Given the description of an element on the screen output the (x, y) to click on. 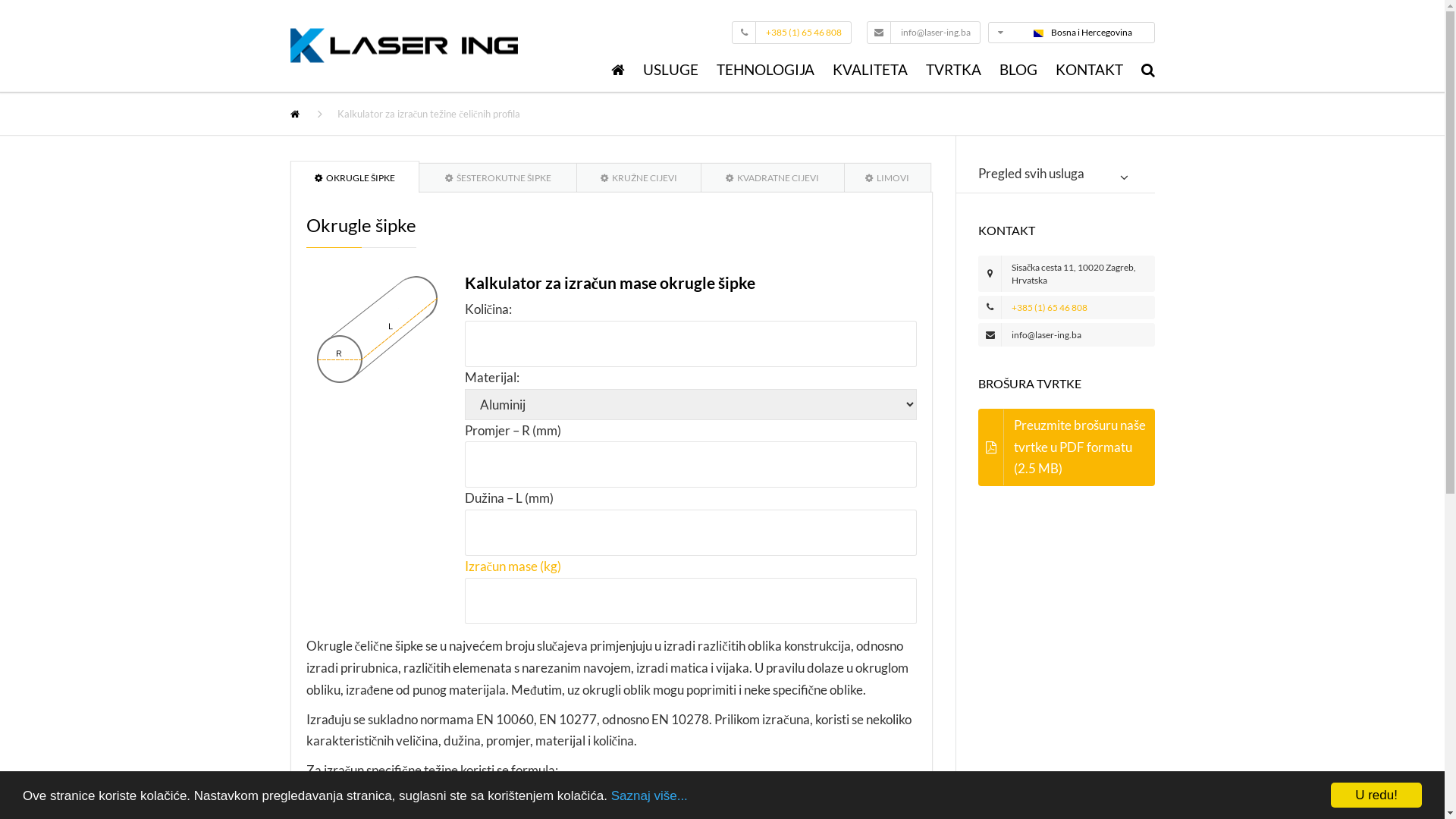
TEHNOLOGIJA Element type: text (764, 72)
U redu! Element type: text (1375, 794)
USLUGE Element type: text (670, 72)
KONTAKT Element type: text (1089, 72)
BLOG Element type: text (1017, 72)
Bosna i Hercegovina Element type: text (1082, 31)
Pregled svih usluga Element type: text (1054, 176)
KVALITETA Element type: text (870, 72)
TVRTKA Element type: text (952, 72)
LIMOVI Element type: text (887, 177)
KVADRATNE CIJEVI Element type: text (772, 177)
